Given the description of an element on the screen output the (x, y) to click on. 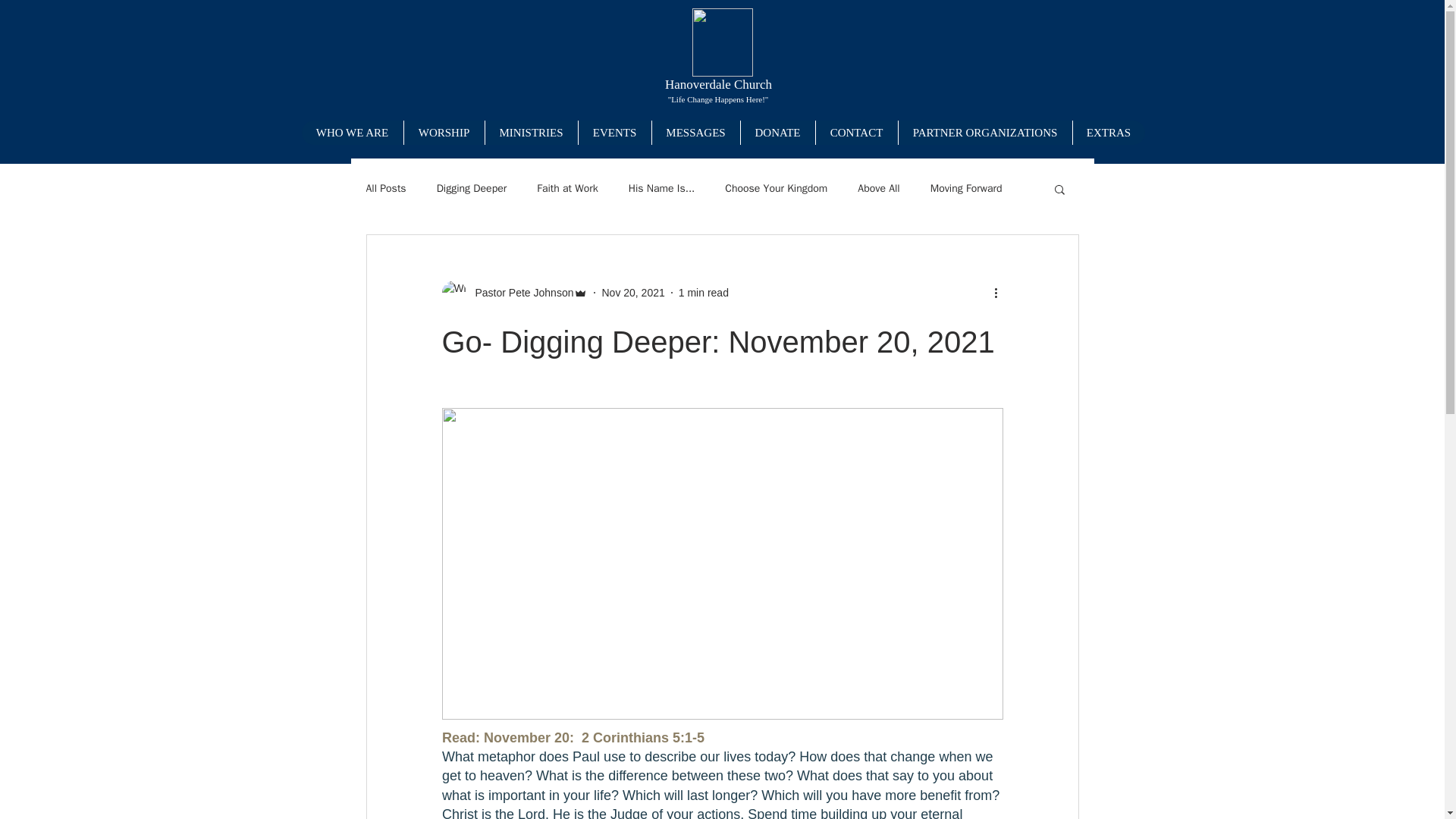
DONATE (777, 132)
Pastor Pete Johnson (519, 293)
WORSHIP (443, 132)
Moving Forward (966, 188)
Digging Deeper (471, 188)
Above All (878, 188)
CONTACT (854, 132)
WHO WE ARE (352, 132)
Faith at Work (567, 188)
EVENTS (614, 132)
